Given the description of an element on the screen output the (x, y) to click on. 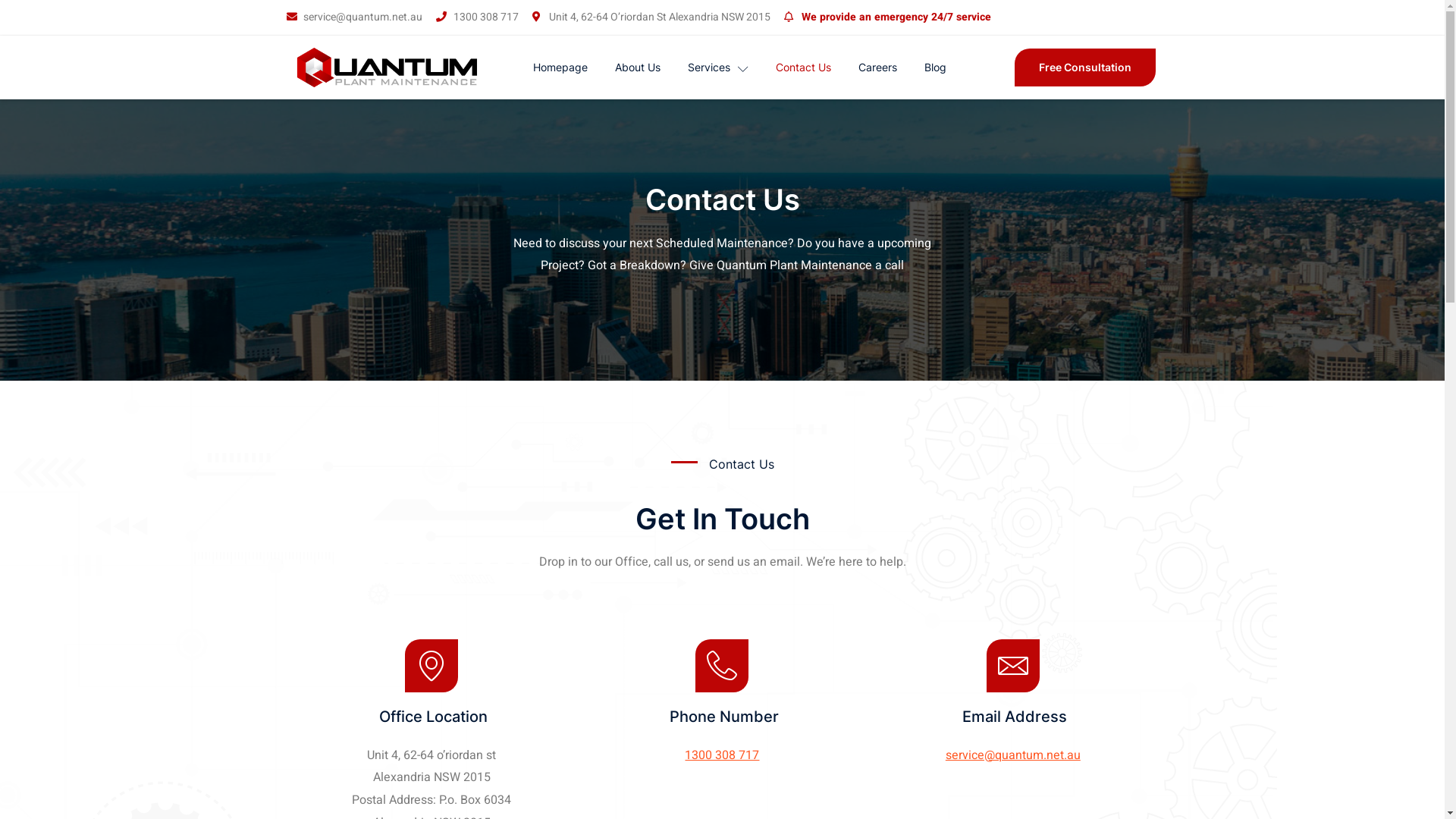
Contact Us Element type: text (803, 67)
Careers Element type: text (877, 67)
About Us Element type: text (637, 67)
service@quantum.net.au Element type: text (354, 17)
We provide an emergency 24/7 service Element type: text (887, 17)
1300 308 717 Element type: text (477, 17)
Blog Element type: text (935, 67)
1300 308 717 Element type: text (721, 755)
Services Element type: text (718, 67)
Free Consultation Element type: text (1084, 67)
Homepage Element type: text (560, 67)
service@quantum.net.au Element type: text (1012, 755)
